Given the description of an element on the screen output the (x, y) to click on. 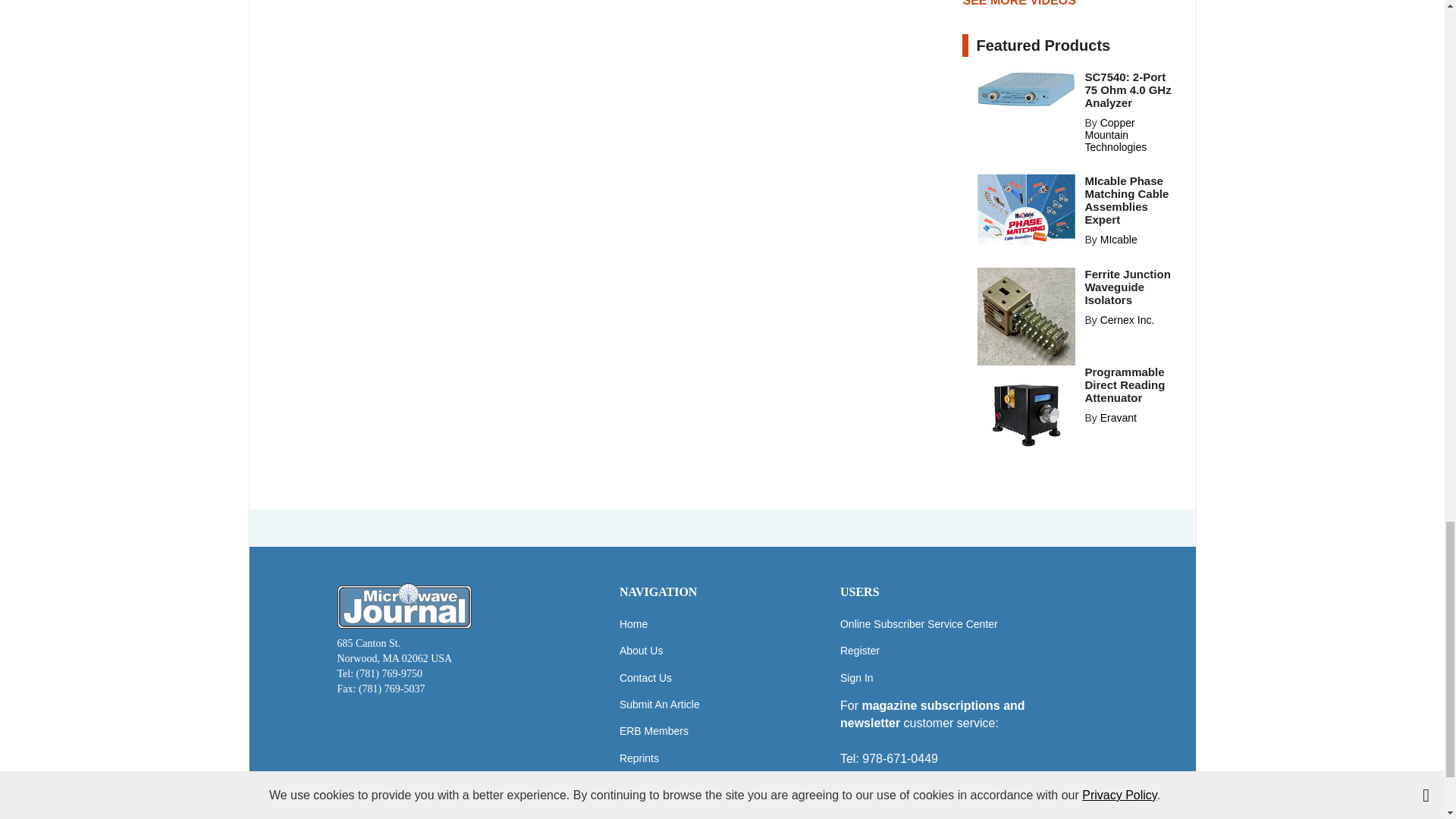
CJI26400416-01 Pict 200x200.jpg (1025, 316)
SC7540 Image -left.jpg (1025, 88)
MIcable Phase Matching Cable Assemblies Expert.jpg (1025, 209)
Eravant.jpg (1025, 414)
